Given the description of an element on the screen output the (x, y) to click on. 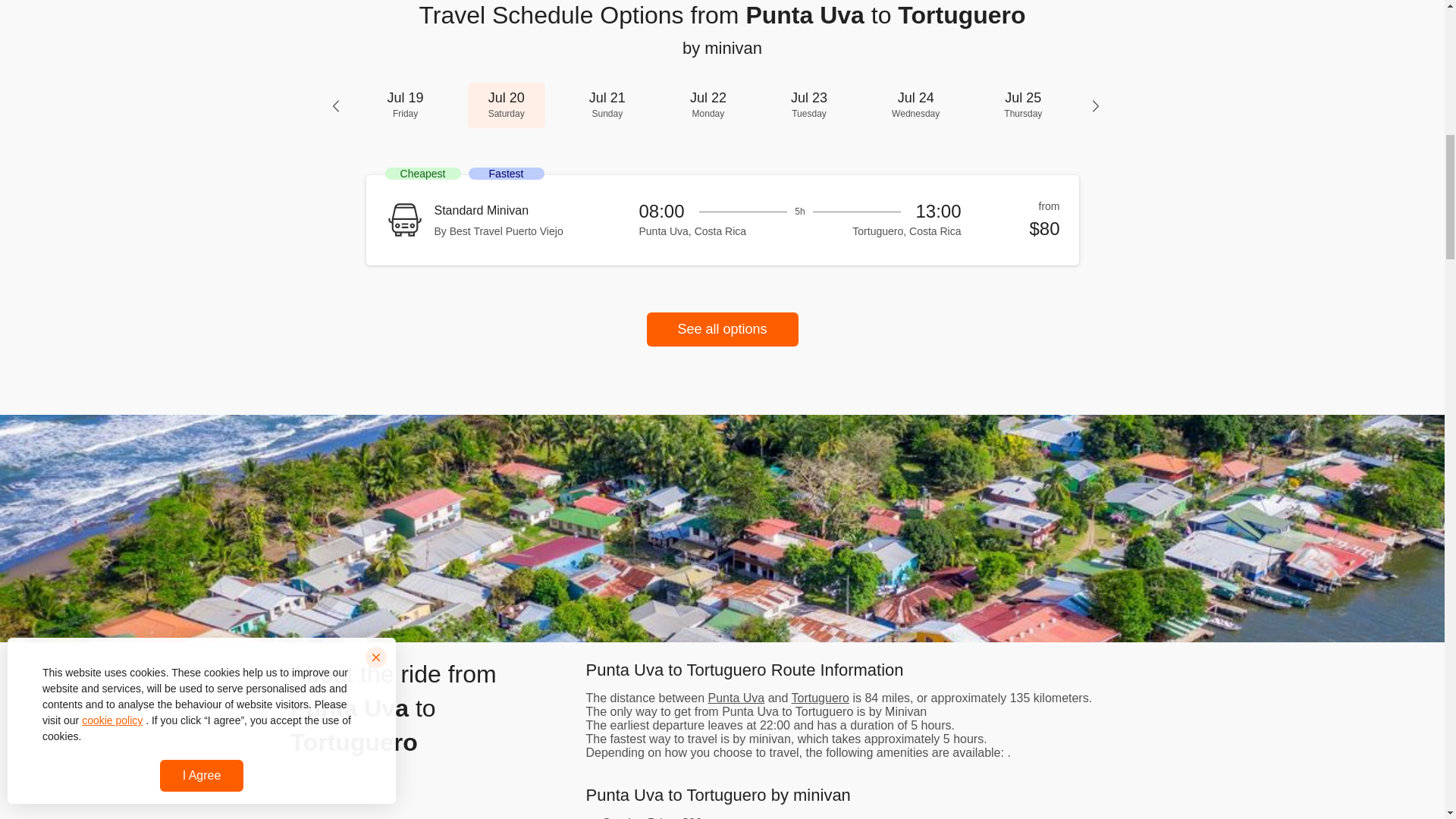
Punta Uva (914, 104)
Tortuguero (707, 104)
See all options (405, 104)
